Given the description of an element on the screen output the (x, y) to click on. 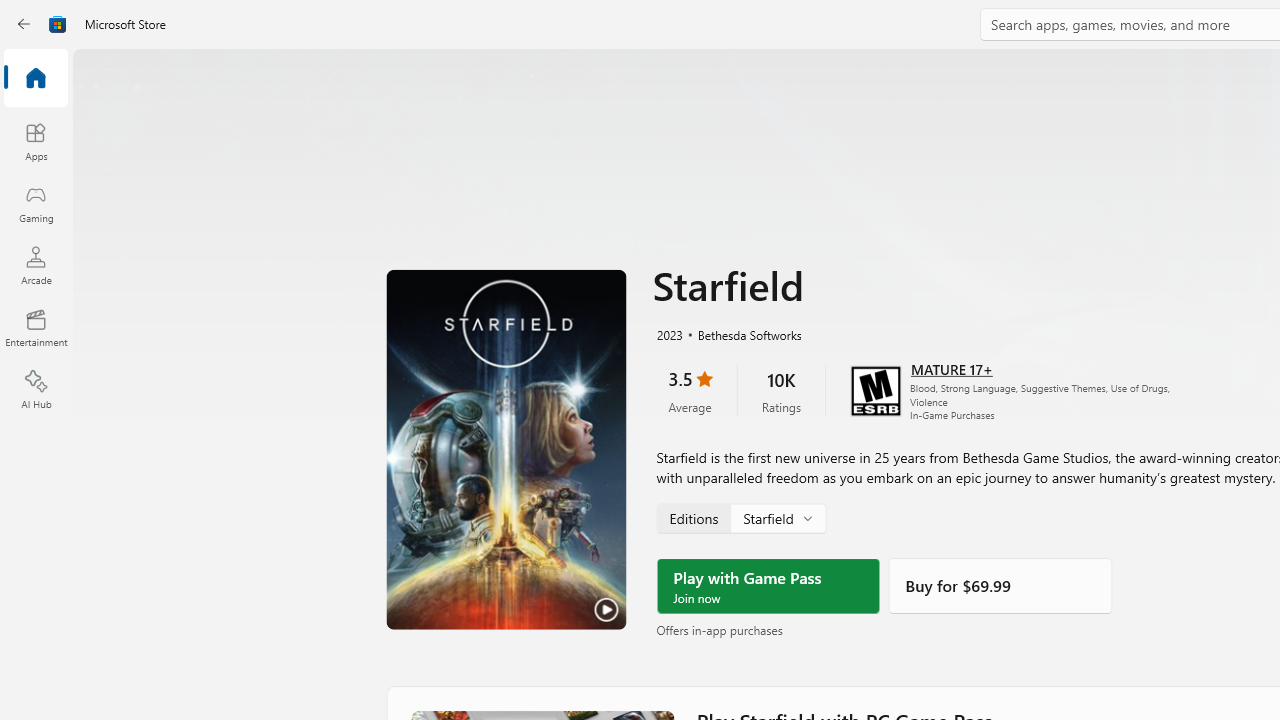
3.5 stars. Click to skip to ratings and reviews (689, 389)
